Given the description of an element on the screen output the (x, y) to click on. 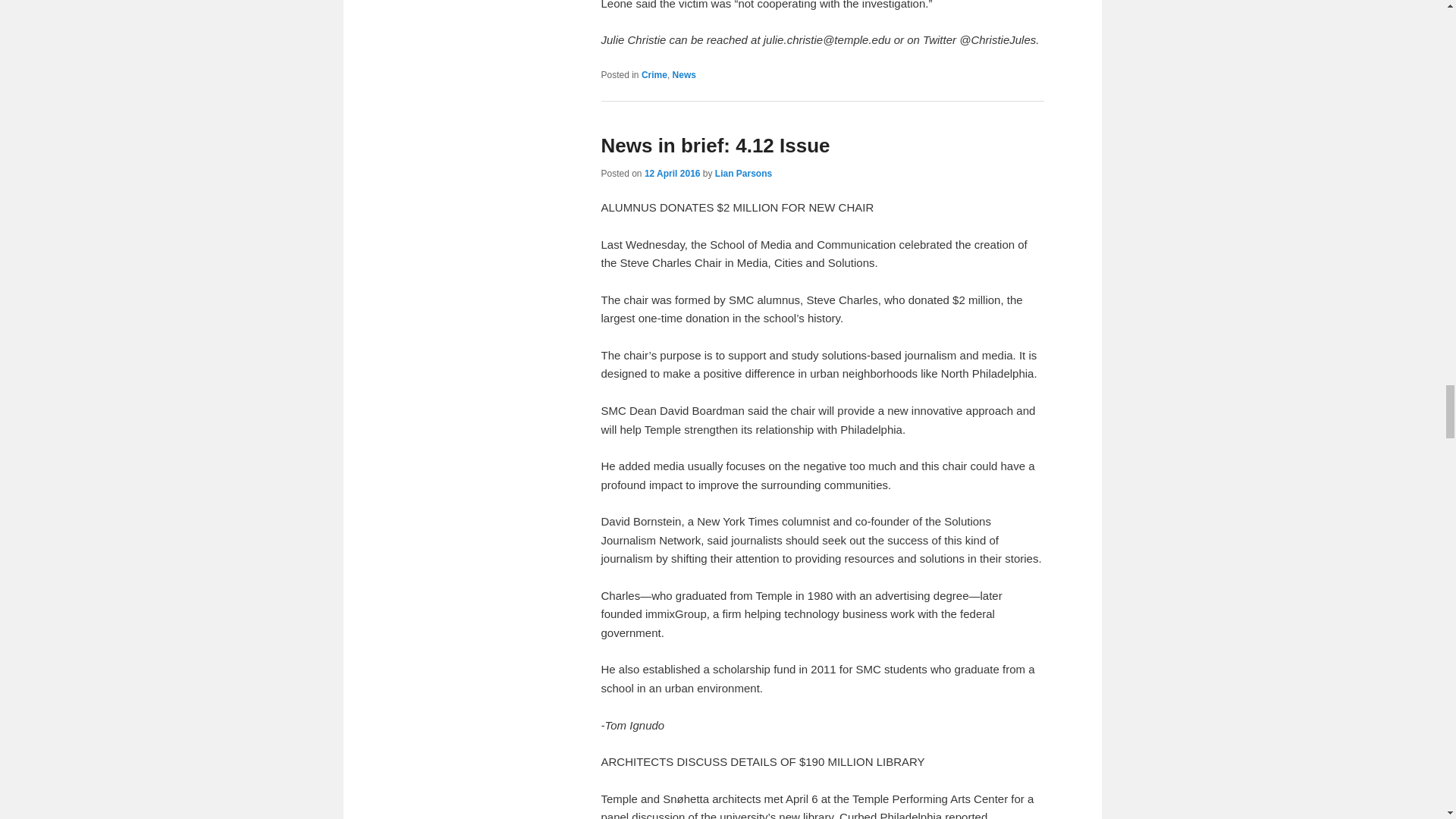
View all posts by Lian Parsons (742, 173)
Lian Parsons (742, 173)
12 April 2016 (672, 173)
News (683, 74)
News in brief: 4.12 Issue (714, 145)
Crime (654, 74)
16:41 (672, 173)
